Given the description of an element on the screen output the (x, y) to click on. 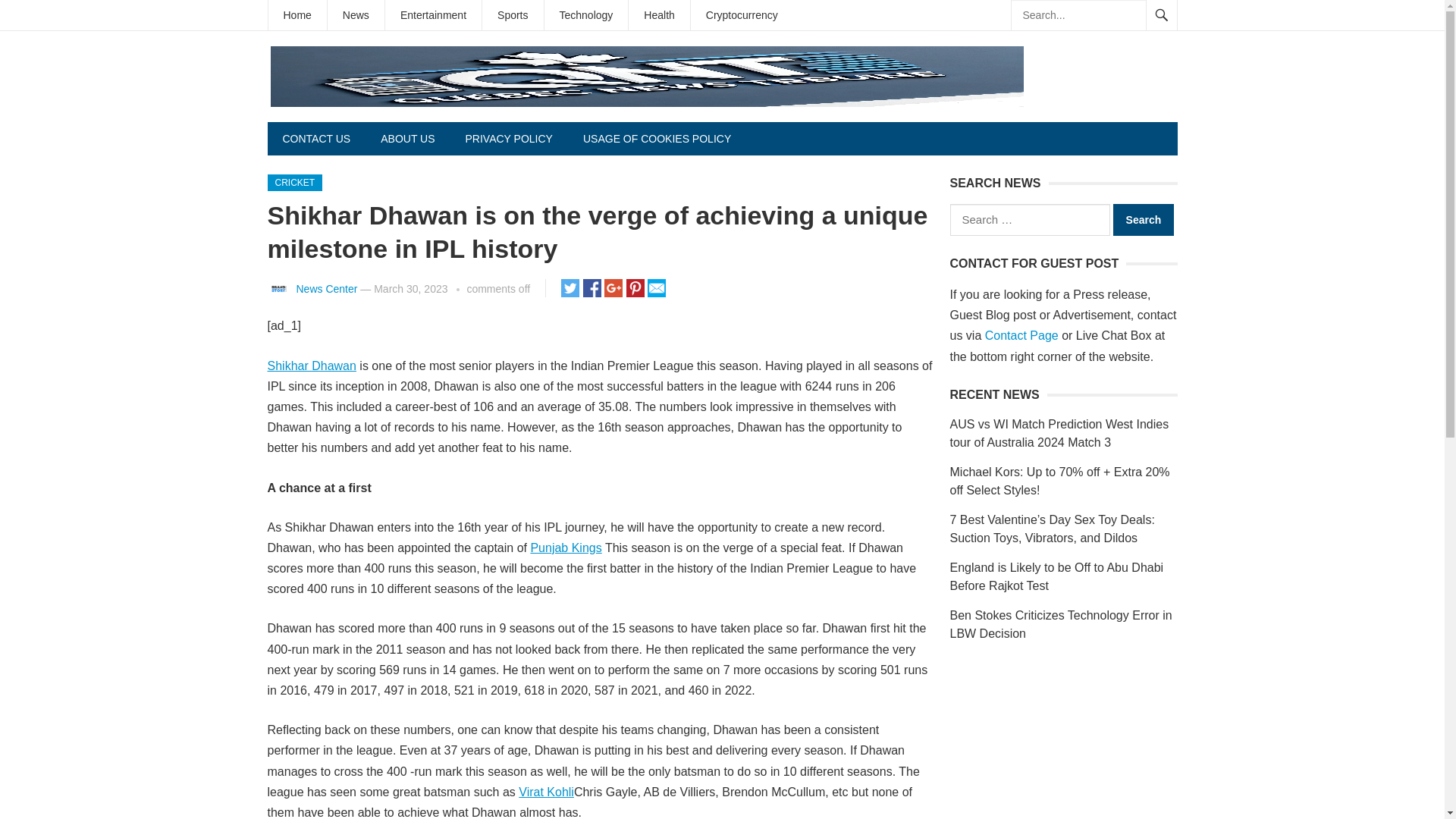
USAGE OF COOKIES POLICY (656, 138)
Cryptocurrency (741, 15)
Search (1143, 219)
PRIVACY POLICY (508, 138)
View all posts in Cricket (293, 182)
News (355, 15)
Search (1143, 219)
Sports (512, 15)
CONTACT US (315, 138)
ABOUT US (407, 138)
CRICKET (293, 182)
Shikhar Dhawan (310, 365)
Home (296, 15)
Health (658, 15)
Posts by News Center (325, 288)
